Given the description of an element on the screen output the (x, y) to click on. 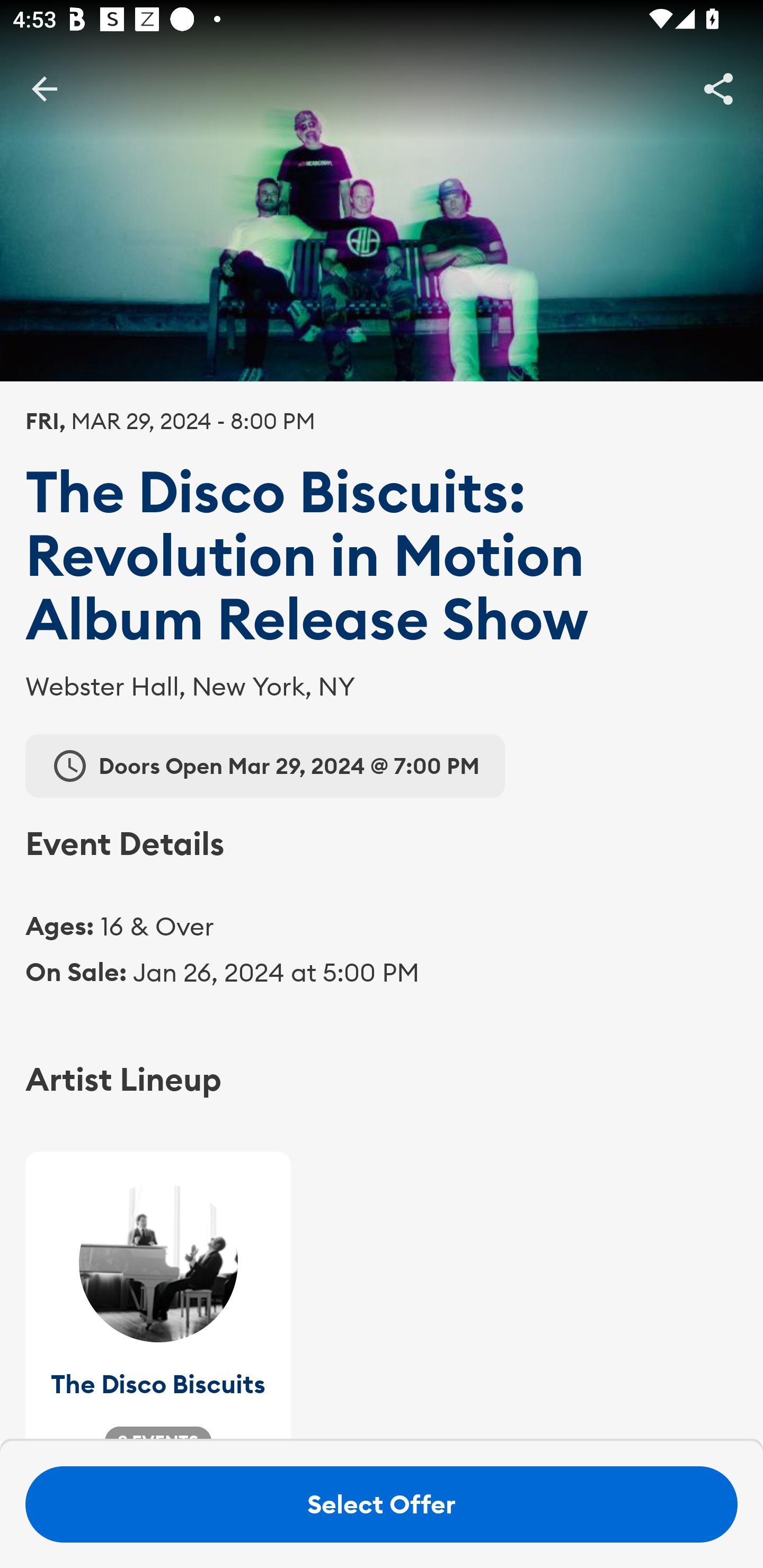
BackButton (44, 88)
Share (718, 88)
The Disco Biscuits 3 EVENTS (157, 1295)
Select Offer (381, 1504)
